Given the description of an element on the screen output the (x, y) to click on. 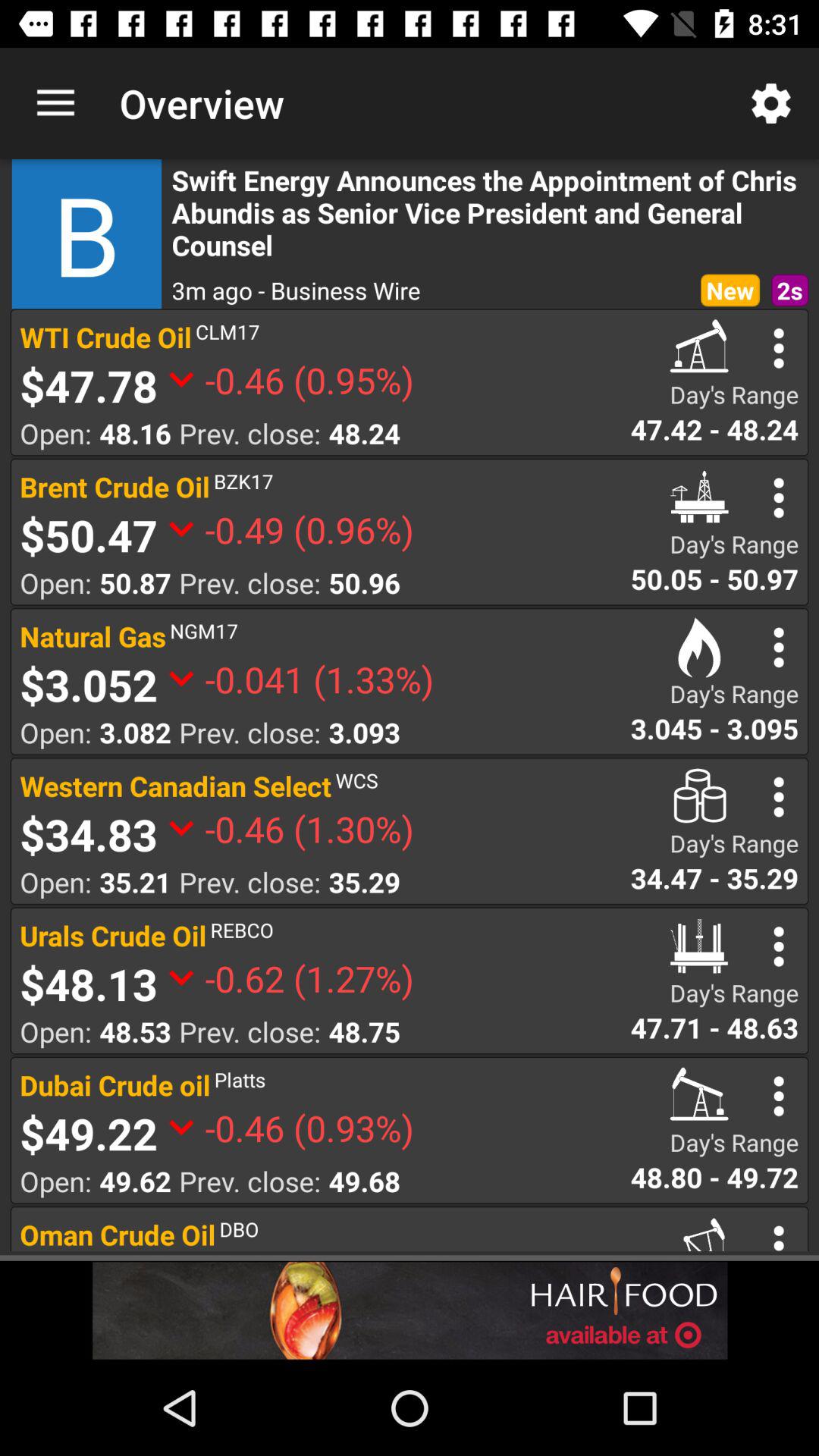
tap advertisement (409, 1310)
